Given the description of an element on the screen output the (x, y) to click on. 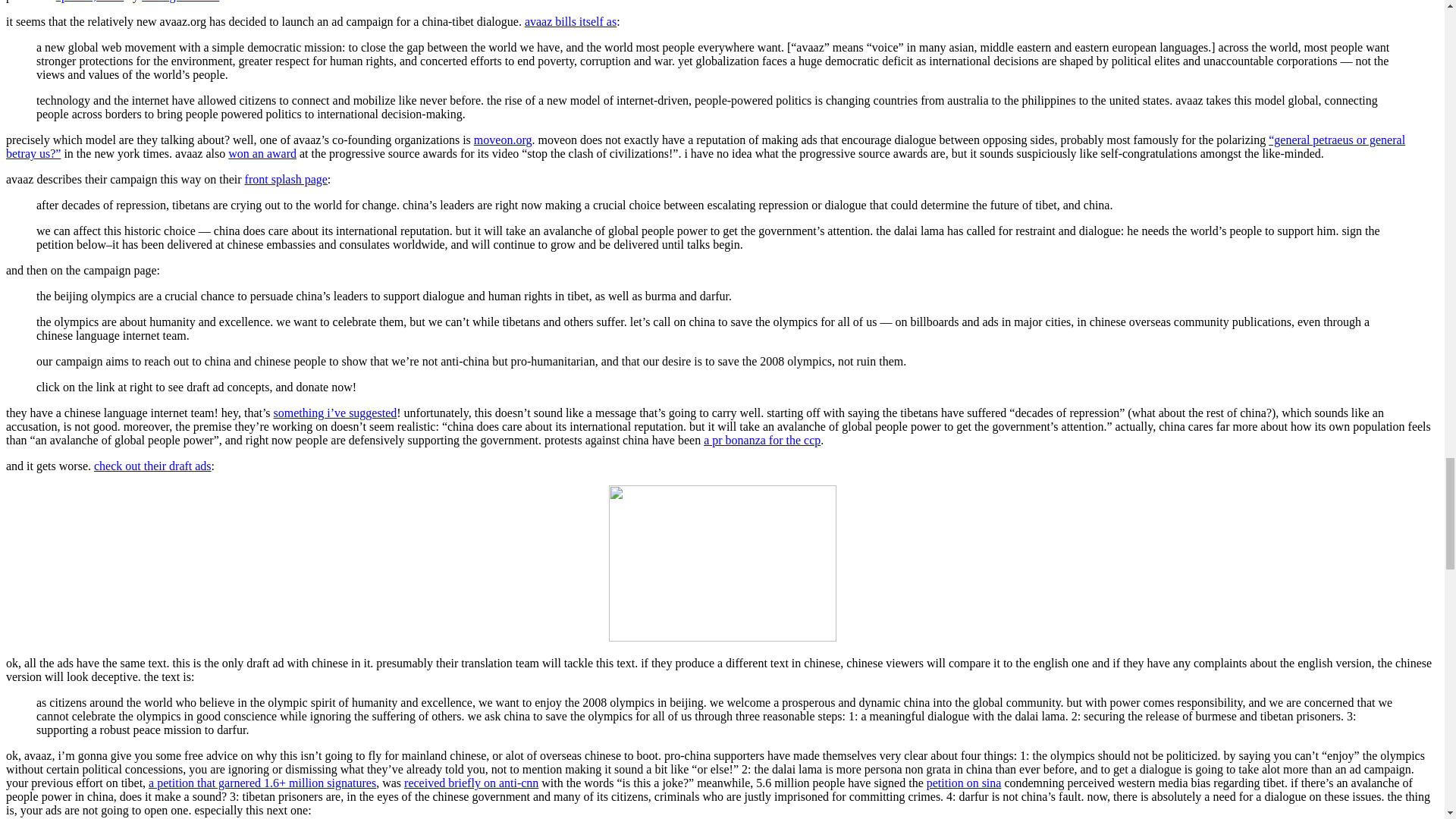
savetheolympics1 (721, 563)
